Given the description of an element on the screen output the (x, y) to click on. 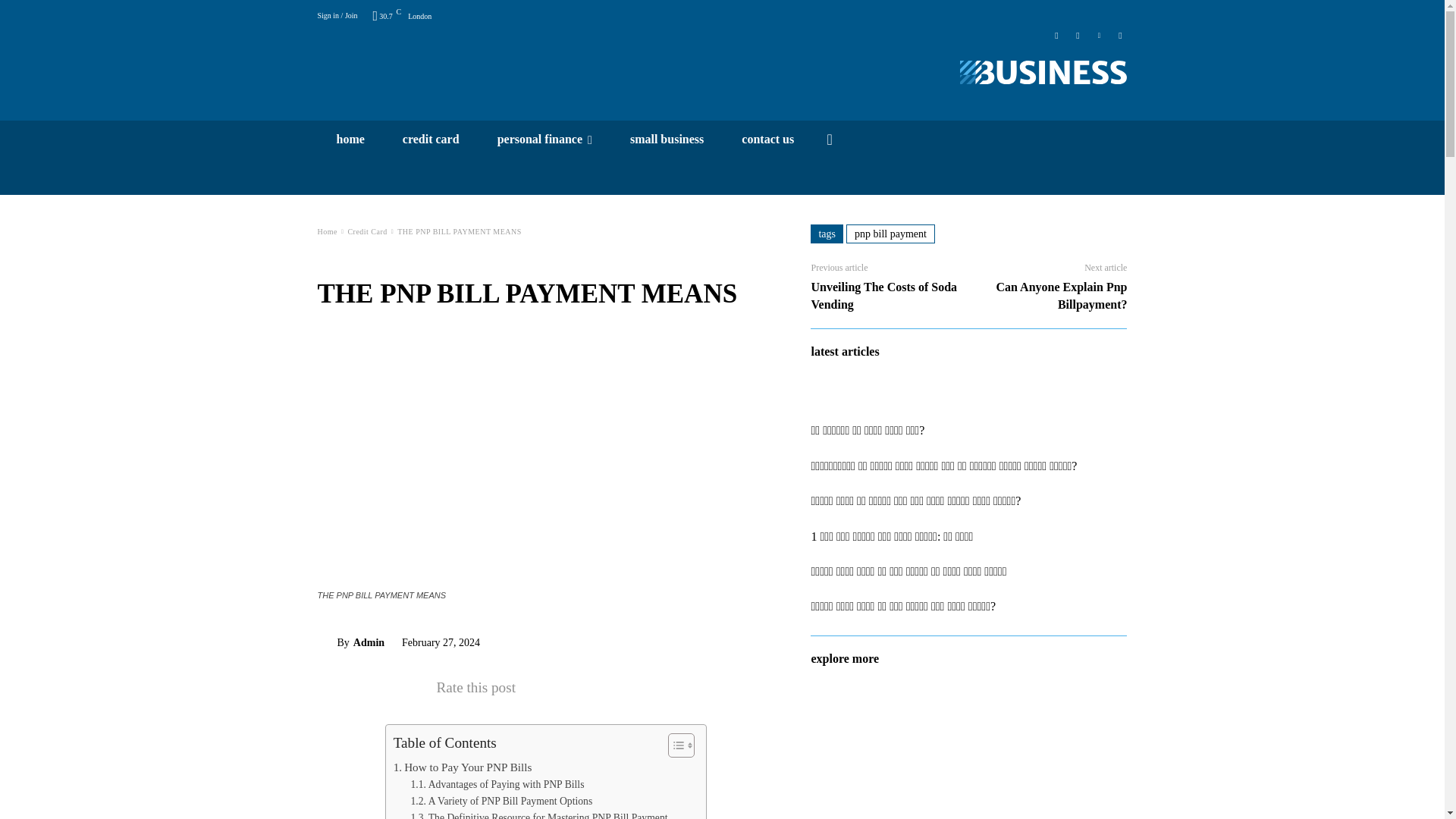
Instagram (1077, 33)
Linkedin (1098, 33)
personal finance (545, 139)
Twitter (1119, 33)
small business (666, 139)
Admin (326, 642)
Facebook (1055, 33)
View all posts in Credit Card (367, 231)
home (349, 139)
contact us (767, 139)
credit card (431, 139)
